Given the description of an element on the screen output the (x, y) to click on. 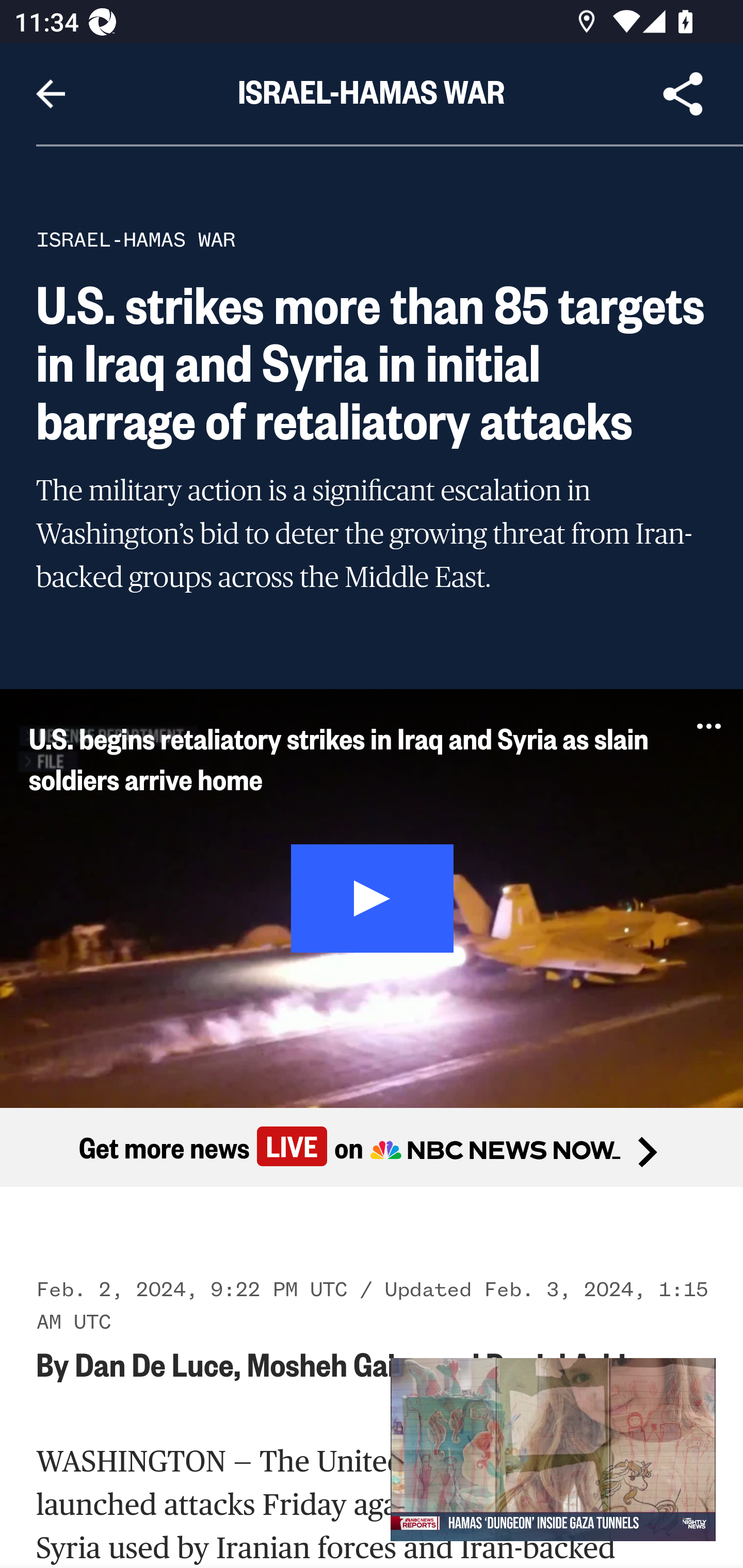
Navigate up (50, 93)
Share Article, button (683, 94)
ISRAEL-HAMAS WAR (136, 239)
Get more news Live on Get more news Live on (371, 1147)
